Given the description of an element on the screen output the (x, y) to click on. 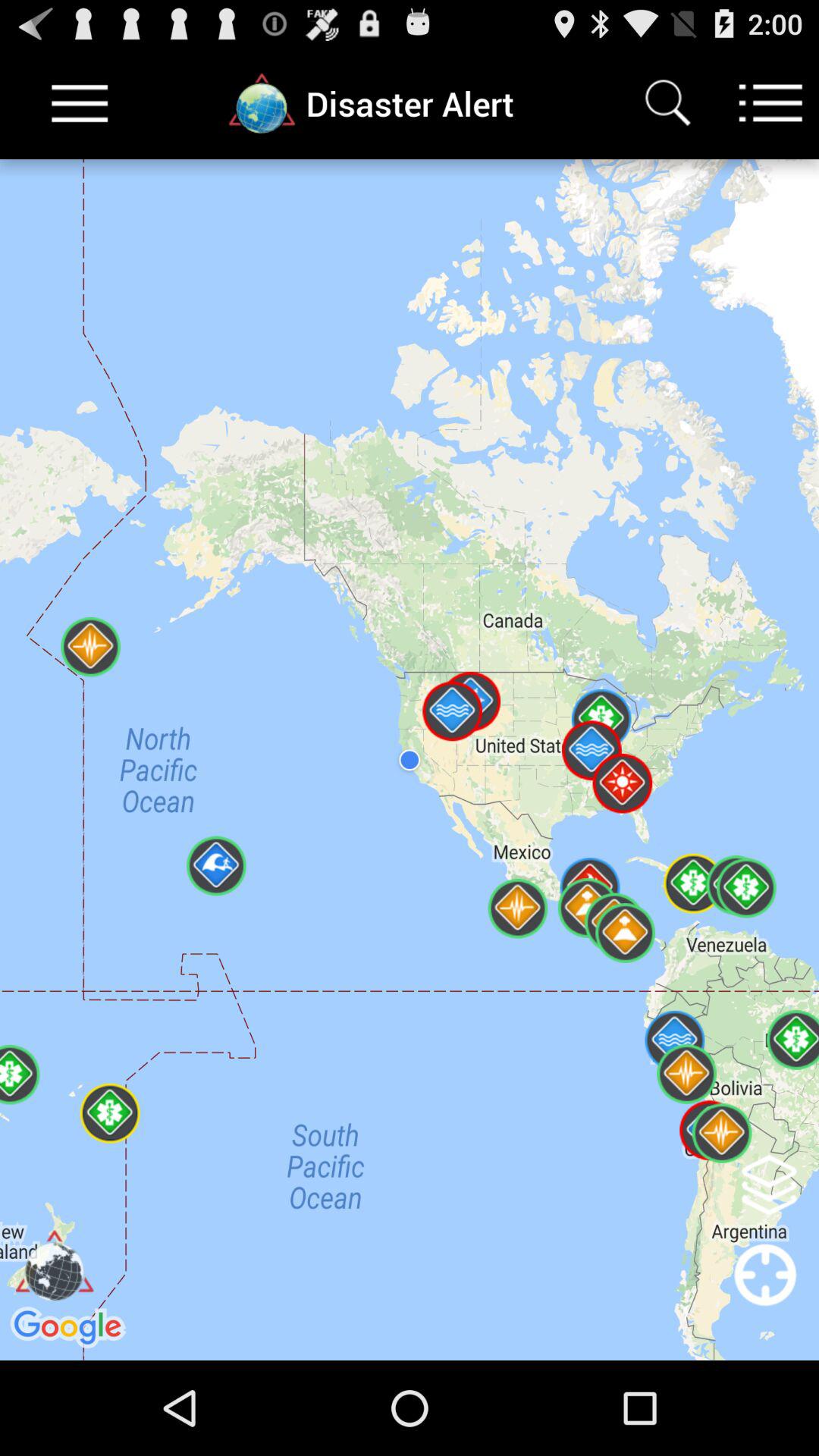
toggle search (667, 102)
